Given the description of an element on the screen output the (x, y) to click on. 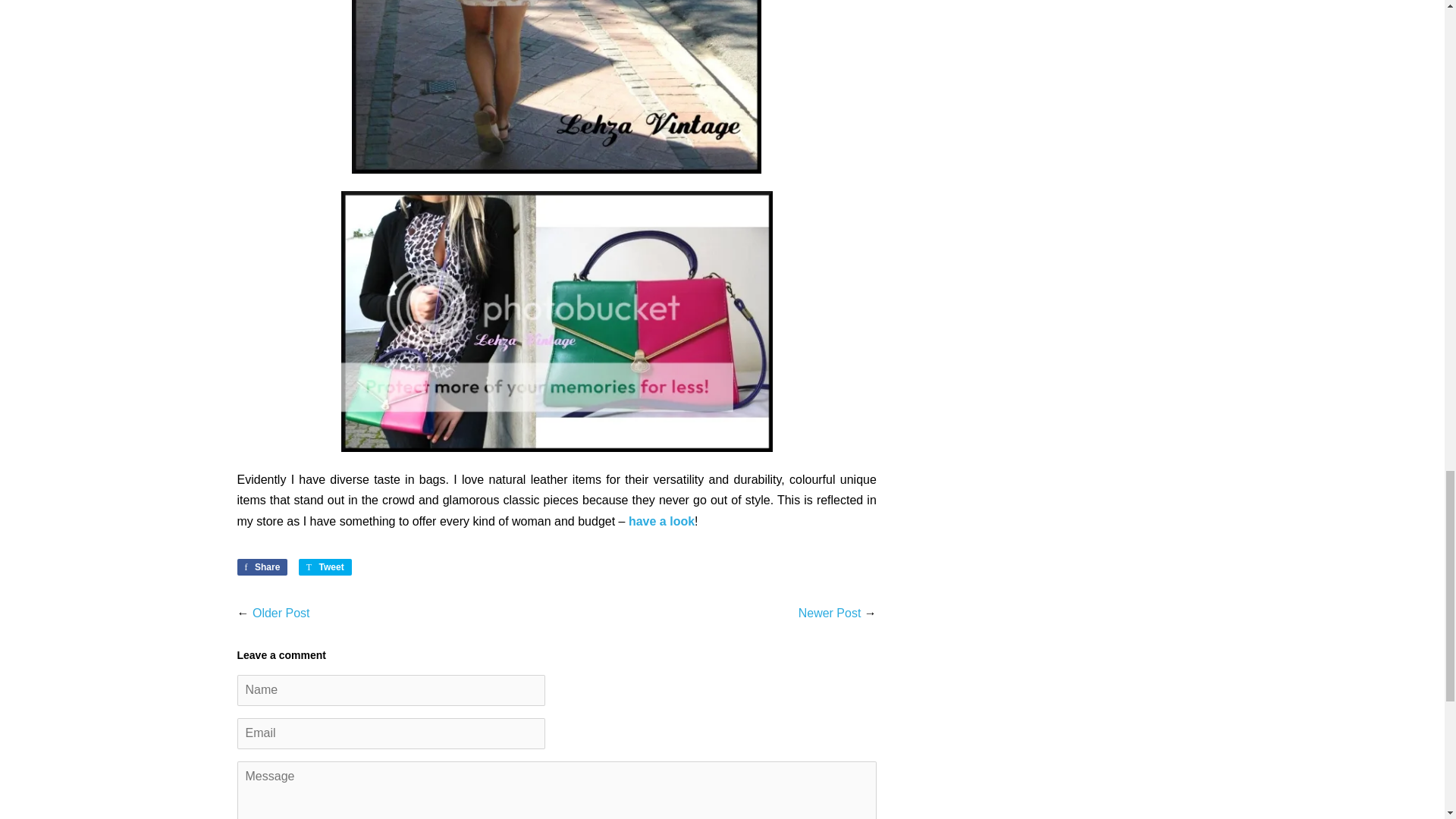
Share on Facebook (260, 566)
vintage bags (556, 86)
Lehza Vintage store (661, 521)
vintage bags (556, 321)
Tweet on Twitter (325, 566)
